Given the description of an element on the screen output the (x, y) to click on. 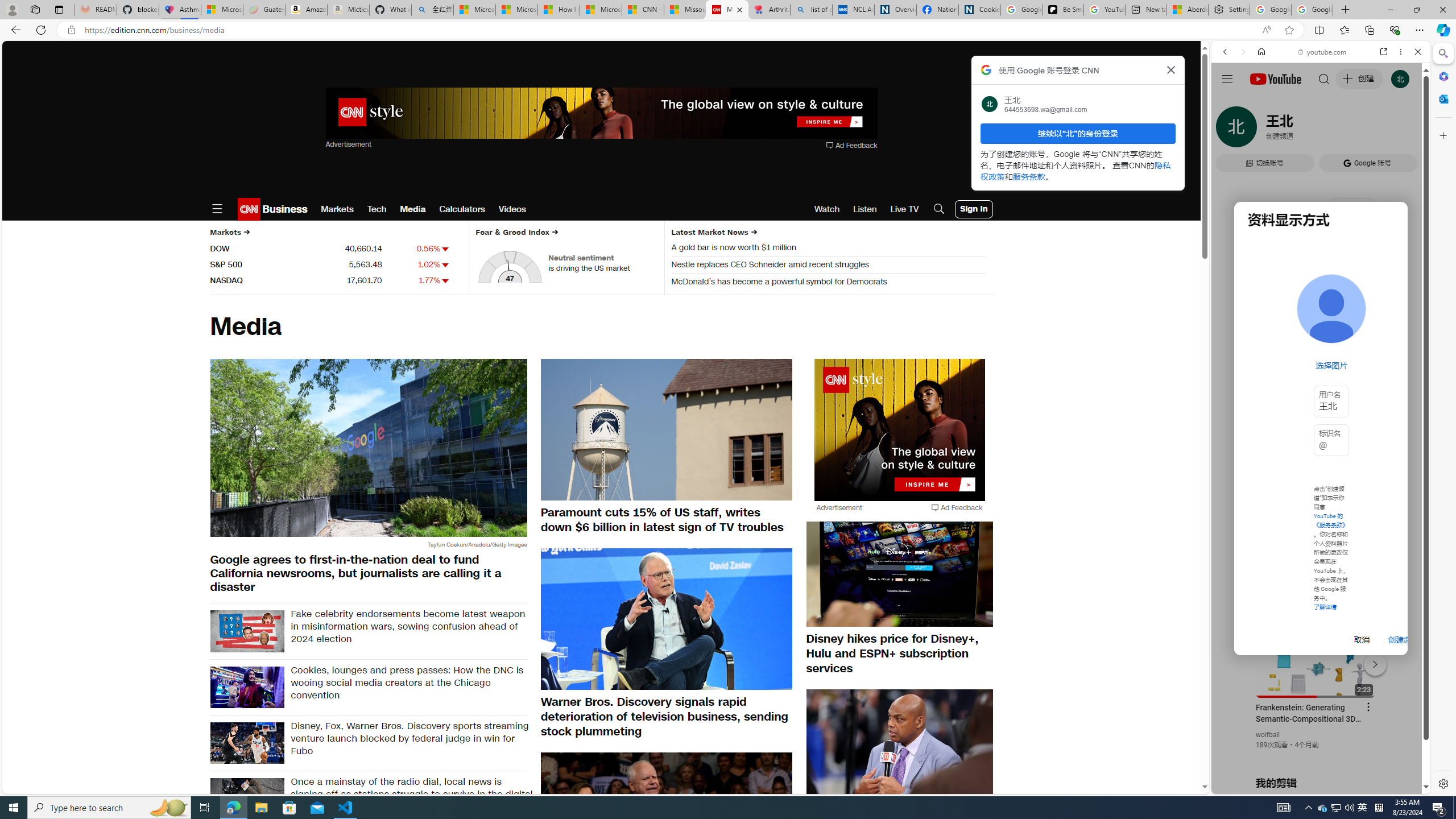
Music (1320, 309)
NCL Adult Asthma Inhaler Choice Guideline (853, 9)
Search Filter, Search Tools (1350, 129)
YouTube (1315, 655)
Calculators (461, 209)
Search Icon (938, 208)
Neutral sentiment is driving the US market (603, 263)
V6.jpg (246, 631)
